Given the description of an element on the screen output the (x, y) to click on. 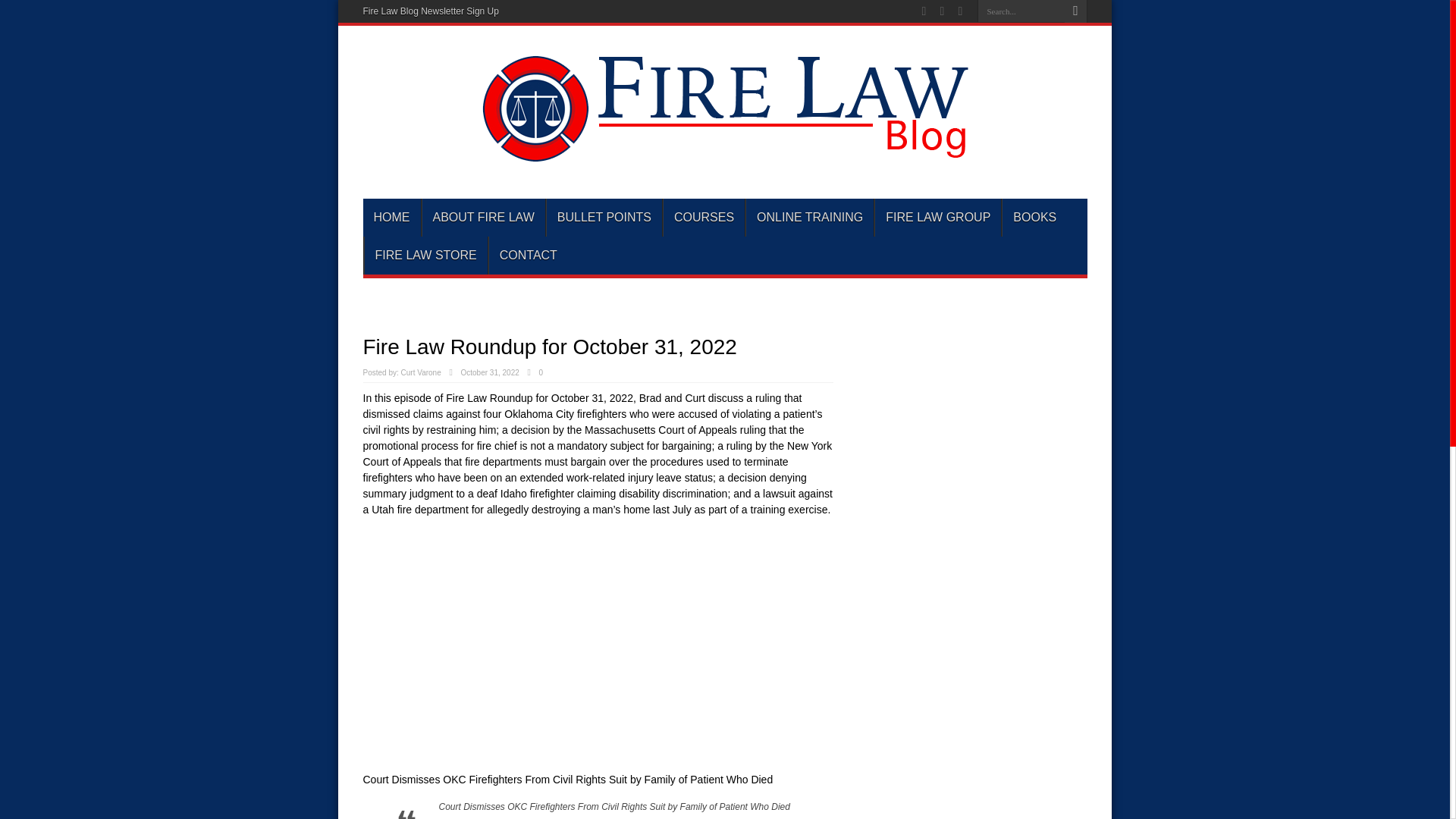
Search (1075, 11)
Curt Varone (421, 372)
YouTube video player (574, 647)
CONTACT (527, 255)
Search... (1020, 11)
ABOUT FIRE LAW (483, 217)
FIRE LAW GROUP (938, 217)
BULLET POINTS (604, 217)
COURSES (703, 217)
BOOKS (1034, 217)
0 (544, 372)
Fire Law Blog Newsletter Sign Up (429, 11)
Fire Law Blog (724, 154)
FIRE LAW STORE (425, 255)
